Given the description of an element on the screen output the (x, y) to click on. 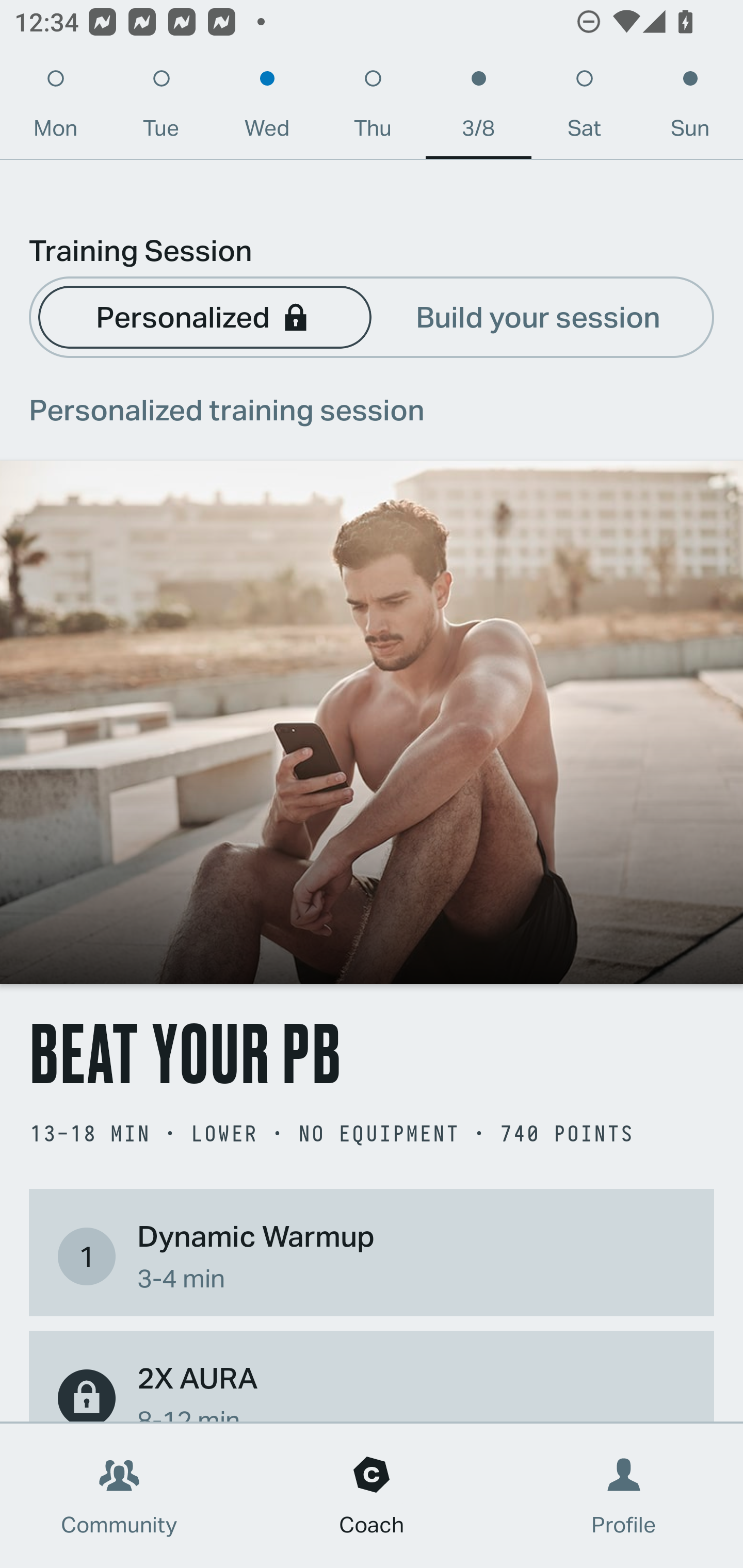
Mon (55, 108)
Tue (160, 108)
Wed (266, 108)
Thu (372, 108)
3/8 (478, 108)
Sat (584, 108)
Sun (690, 108)
Personalized (204, 315)
Build your session (538, 315)
1 Dynamic Warmup 3-4 min (371, 1256)
2X AURA 8-12 min (371, 1388)
Community (119, 1495)
Profile (624, 1495)
